Given the description of an element on the screen output the (x, y) to click on. 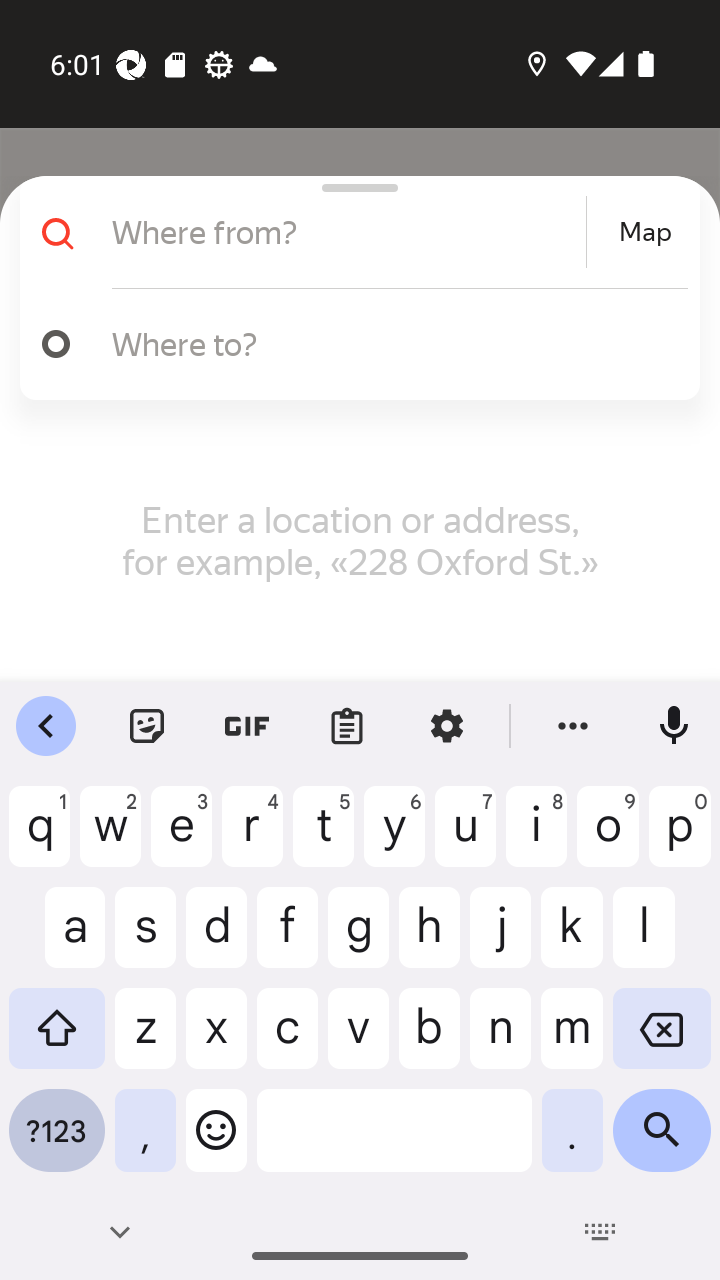
Where from? Map Map (352, 232)
Map (645, 232)
Where from? (346, 232)
Where to? (352, 343)
Where to? (390, 343)
